Given the description of an element on the screen output the (x, y) to click on. 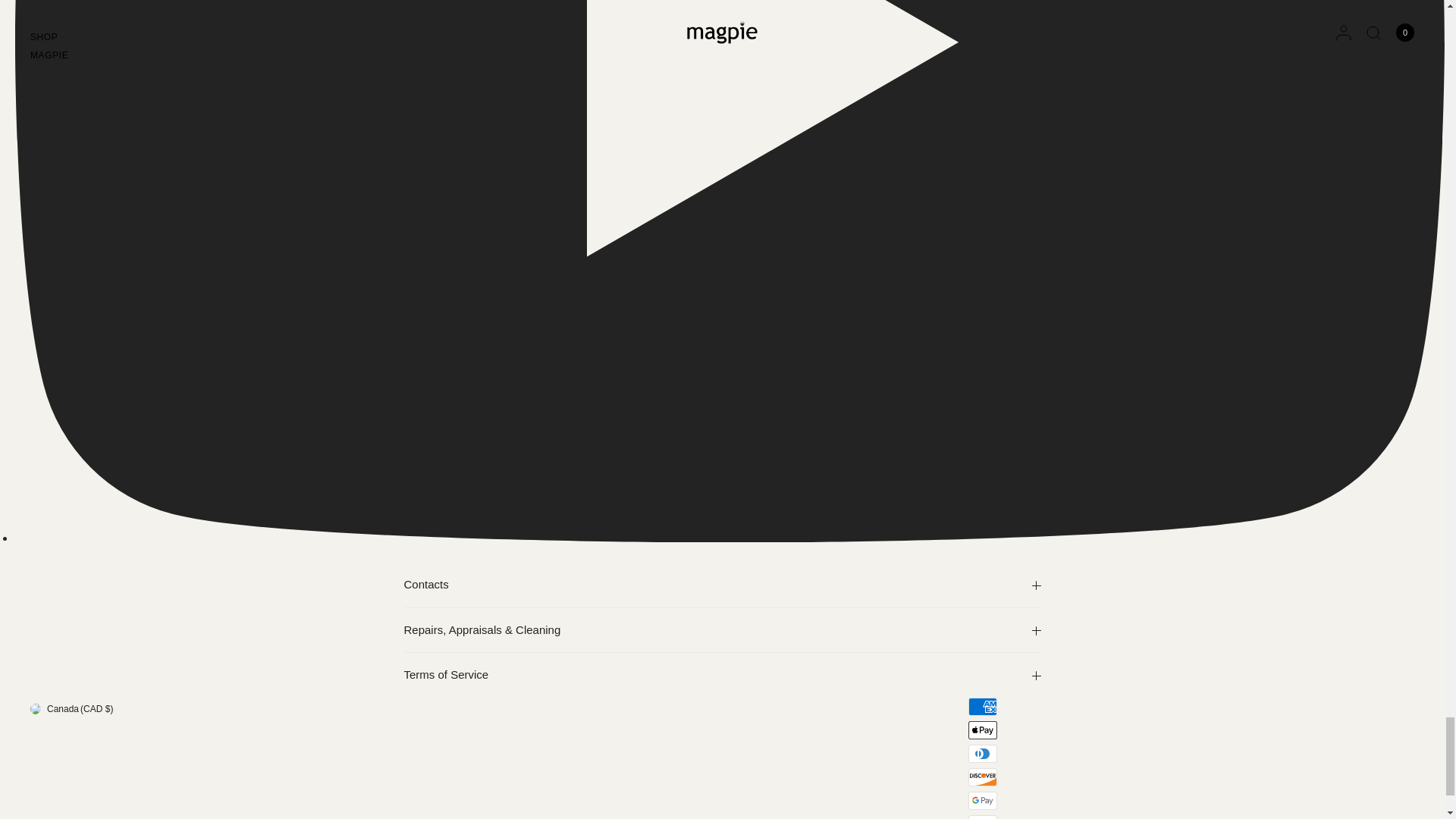
Google Pay (982, 800)
Discover (982, 777)
Apple Pay (982, 730)
Diners Club (982, 753)
American Express (982, 706)
